Given the description of an element on the screen output the (x, y) to click on. 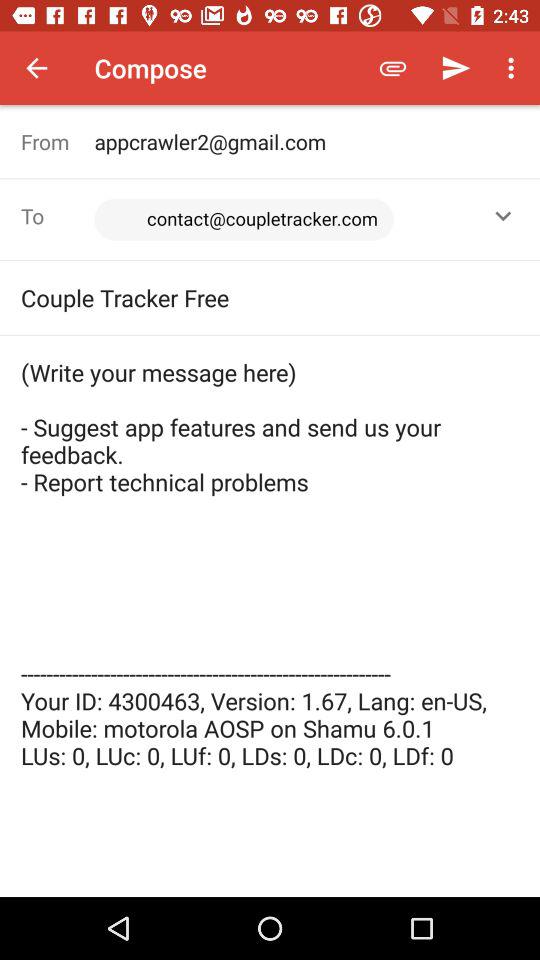
choose the item next to the compose icon (36, 68)
